Given the description of an element on the screen output the (x, y) to click on. 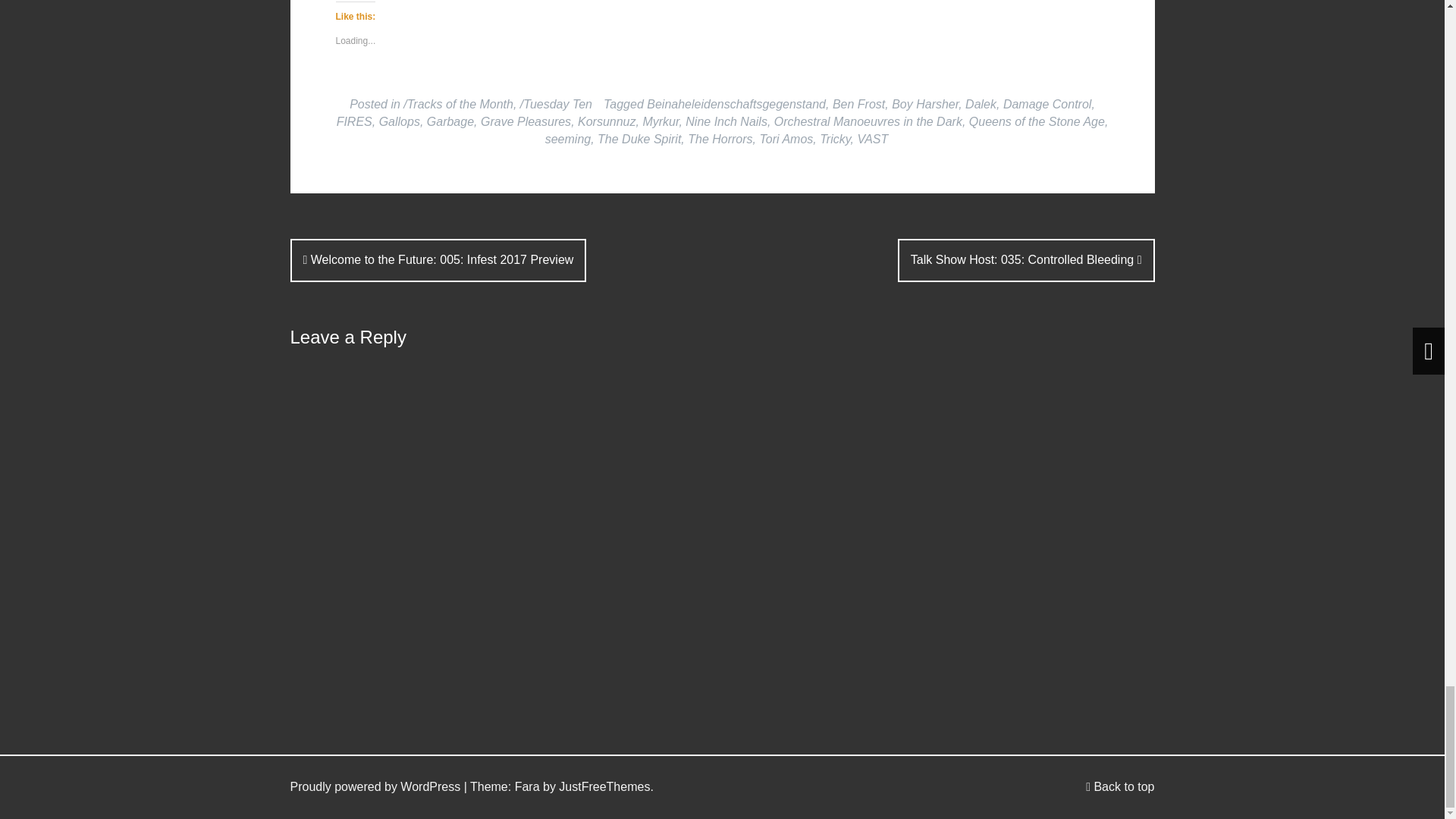
 Back to top (1120, 787)
